Given the description of an element on the screen output the (x, y) to click on. 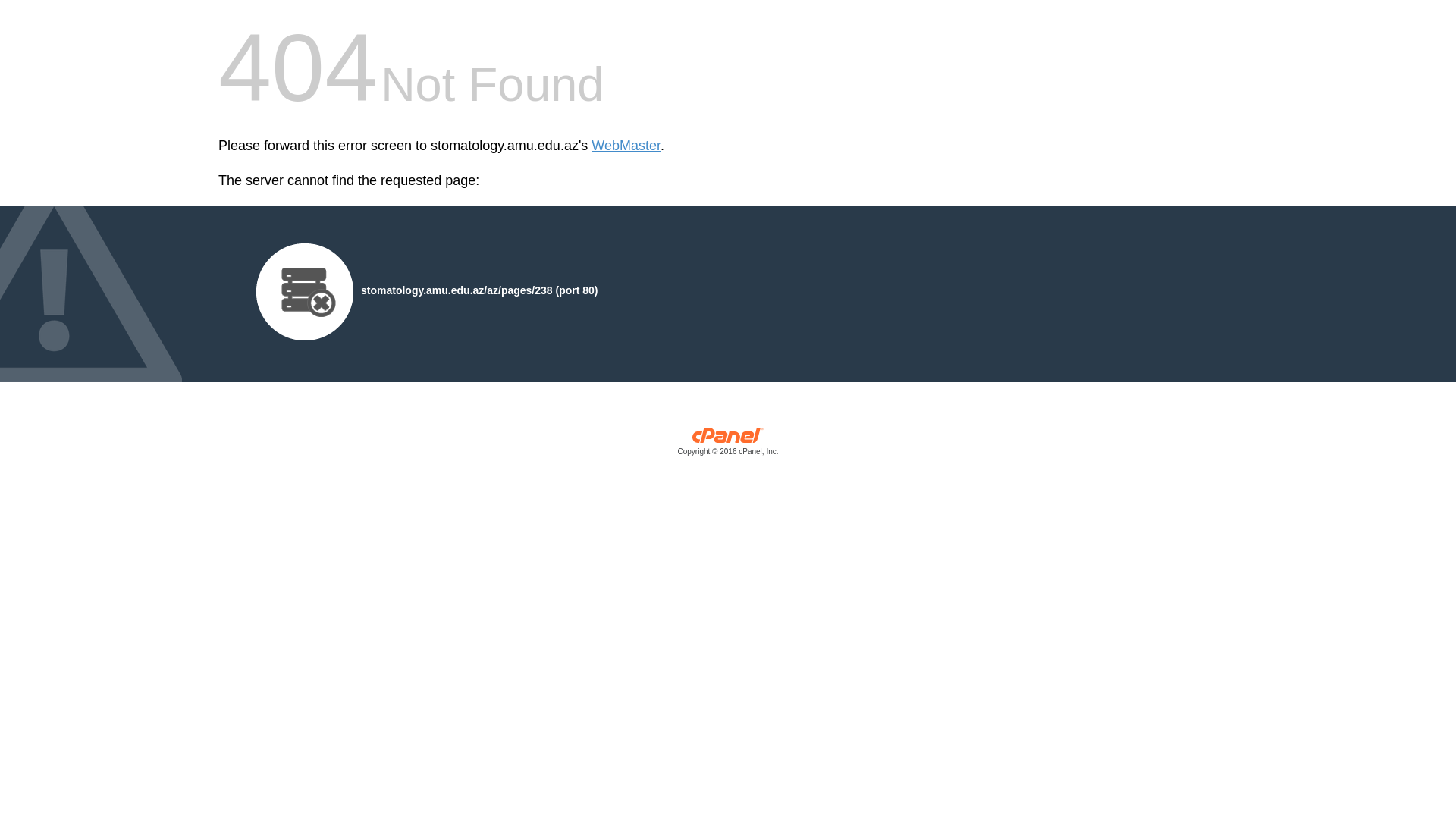
WebMaster Element type: text (625, 145)
